Given the description of an element on the screen output the (x, y) to click on. 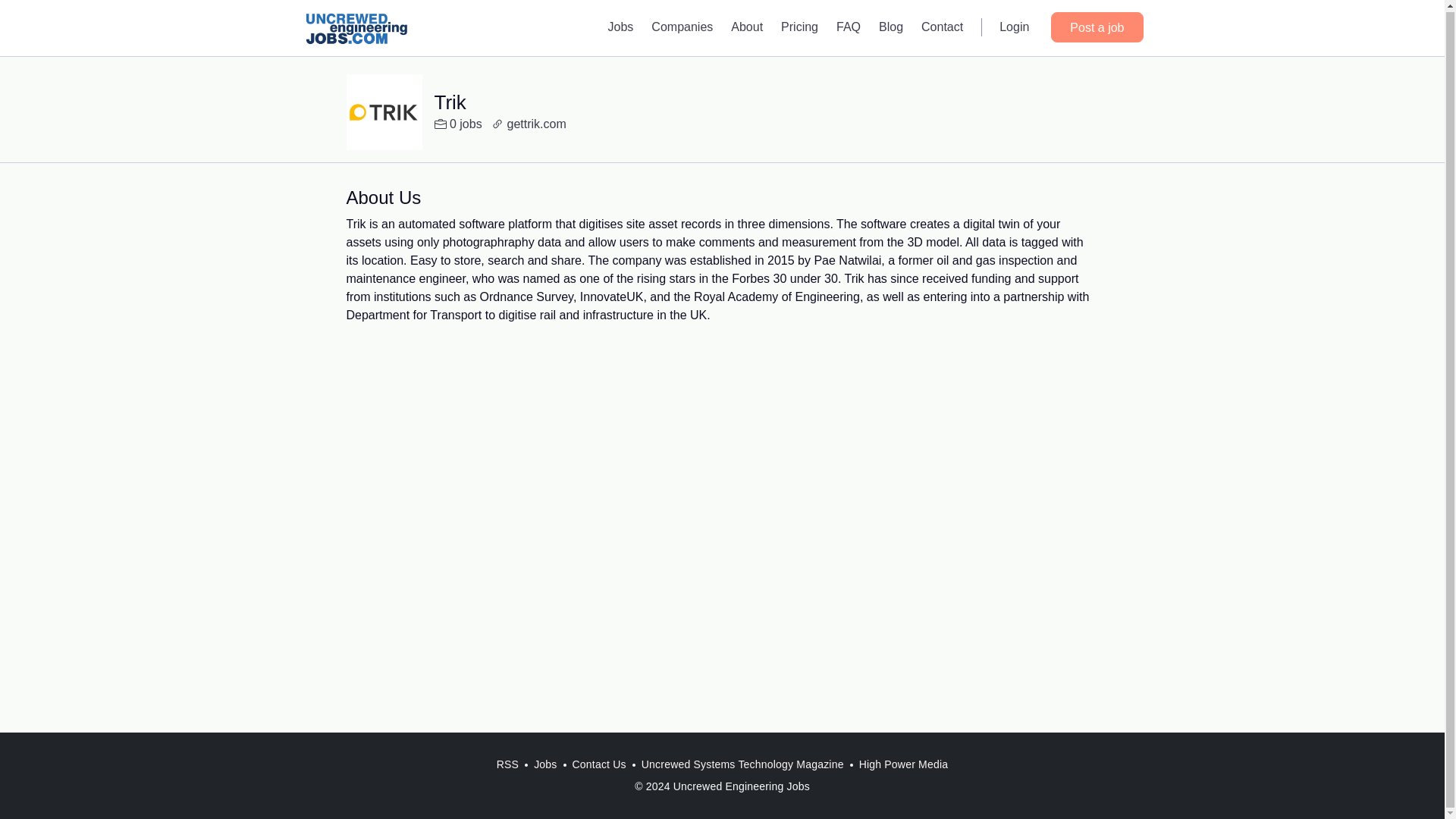
Pricing (799, 25)
Contact Us (598, 764)
Login (1014, 25)
0 jobs (457, 124)
FAQ (848, 25)
Jobs (620, 25)
Blog (890, 25)
Jobs (544, 764)
Post a job (1096, 26)
gettrik.com (529, 124)
Companies (682, 25)
High Power Media (903, 764)
Contact (942, 25)
About (746, 25)
RSS (507, 764)
